Given the description of an element on the screen output the (x, y) to click on. 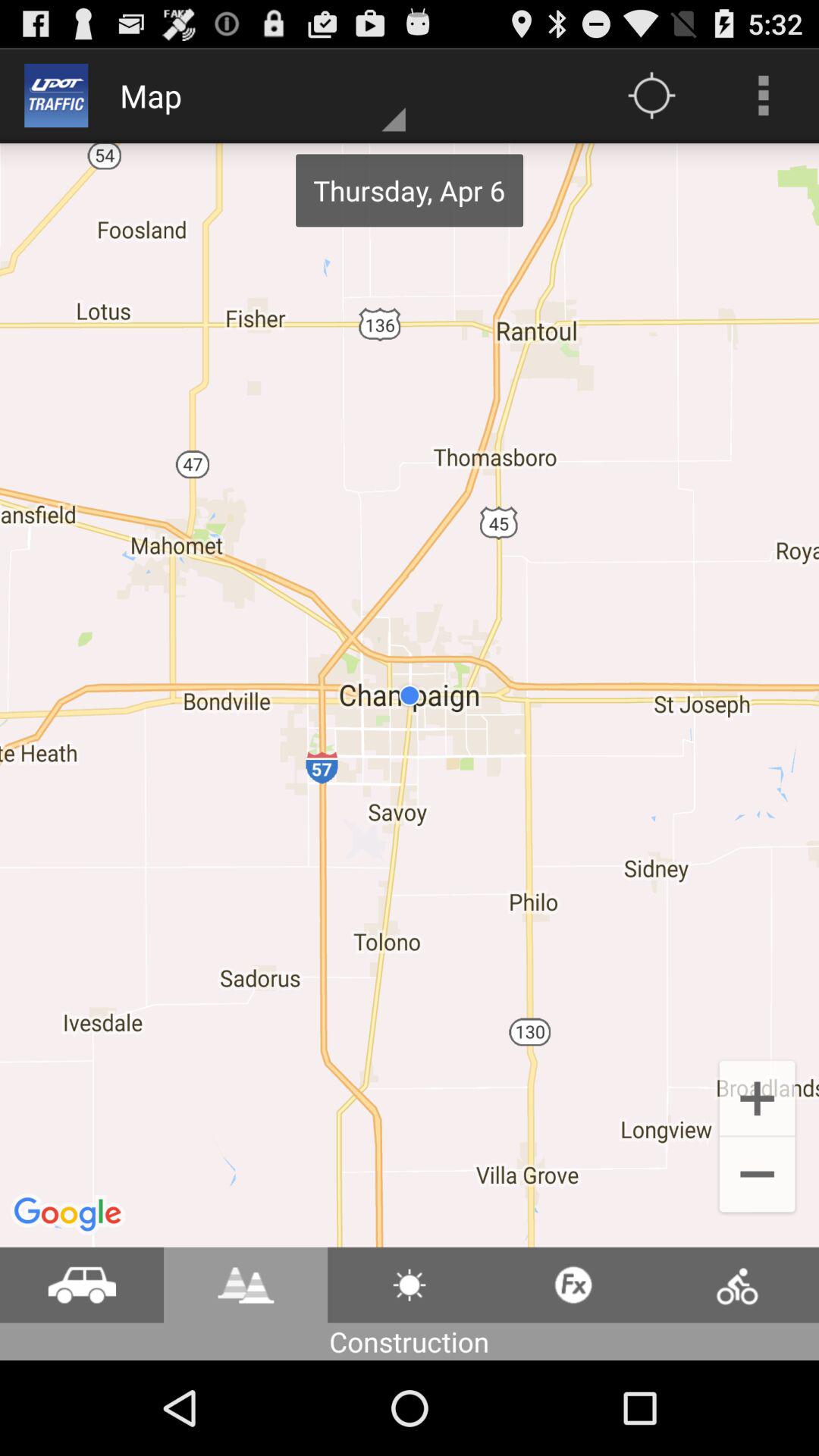
check road conditions (245, 1284)
